Given the description of an element on the screen output the (x, y) to click on. 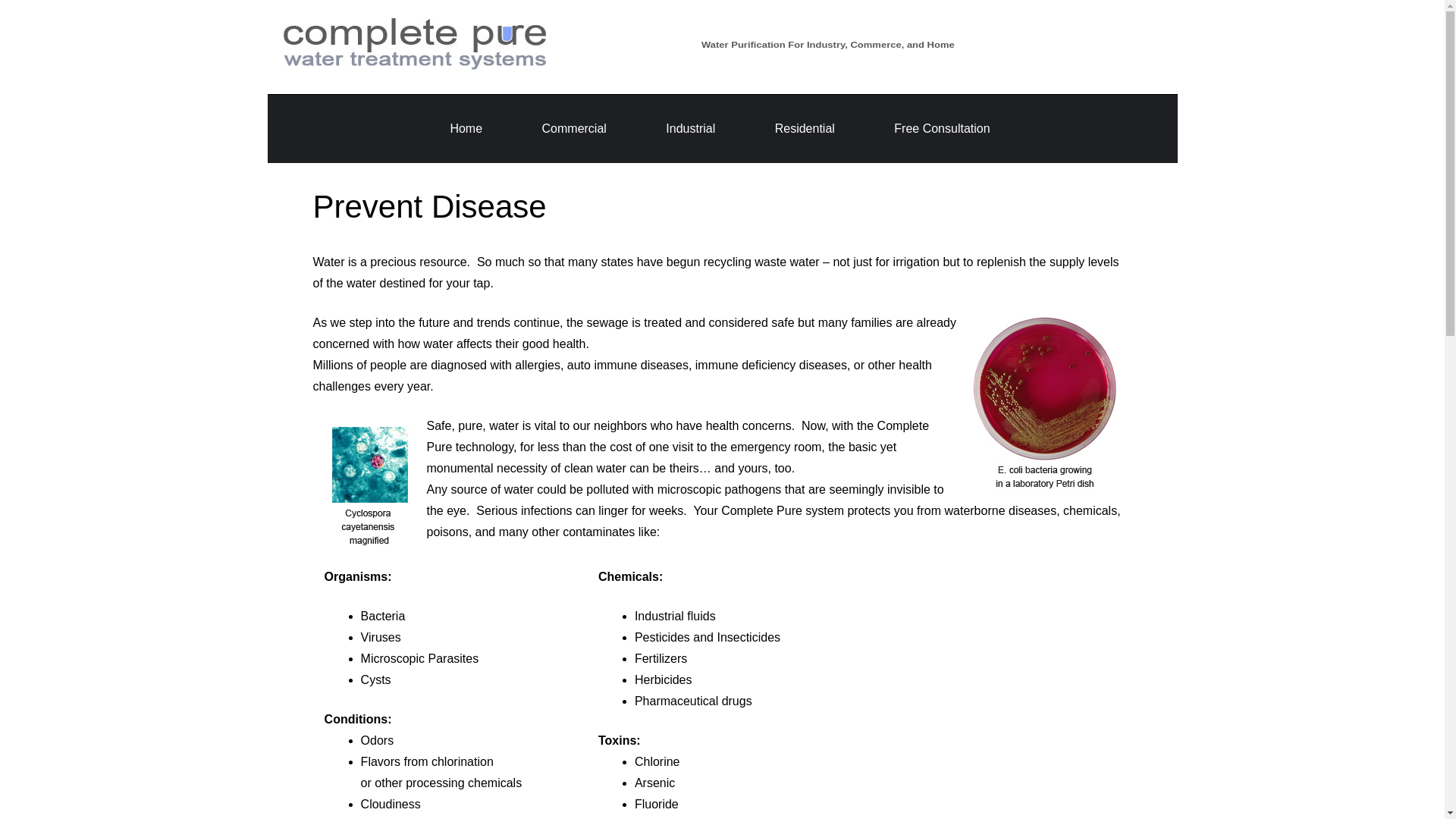
Industrial (689, 128)
Home (465, 128)
Residential (804, 128)
Commercial (574, 128)
Free Consultation (941, 128)
